Given the description of an element on the screen output the (x, y) to click on. 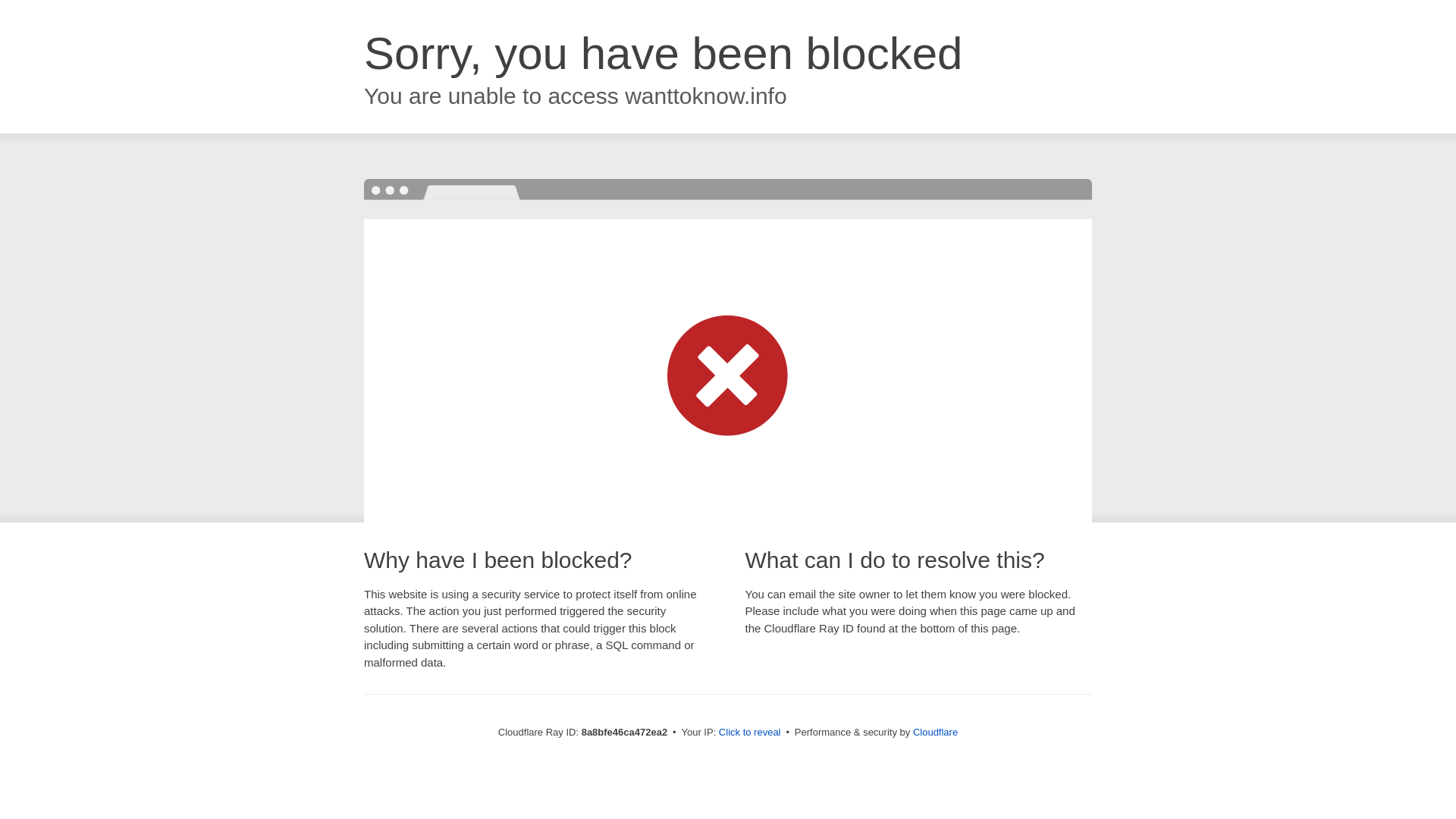
Click to reveal (749, 732)
Cloudflare (935, 731)
